Given the description of an element on the screen output the (x, y) to click on. 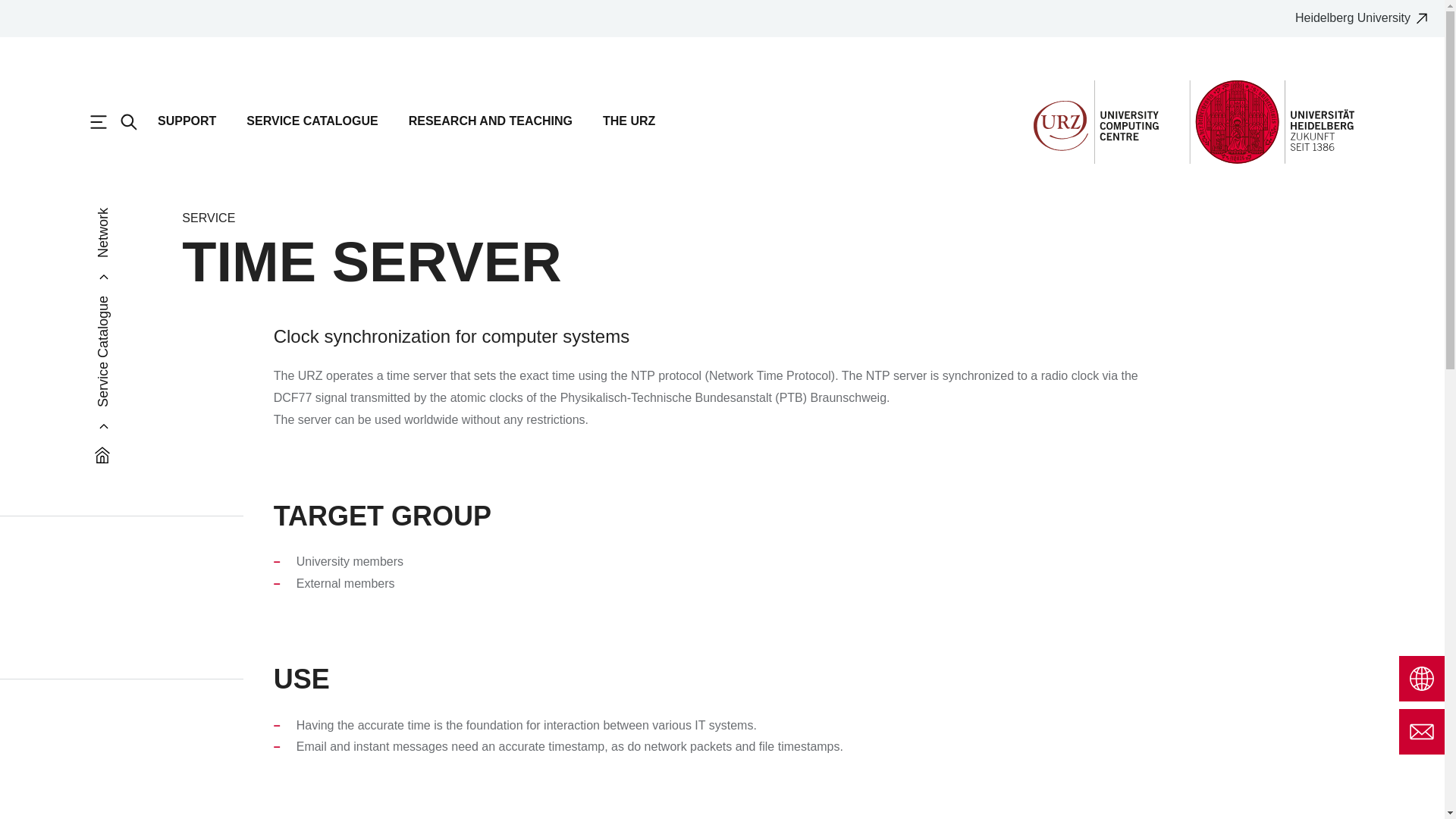
JUMP TO MAIN CONTENT (17, 16)
RESEARCH AND TEACHING (490, 128)
Service Catalogue (151, 303)
THE URZ (628, 128)
Network (120, 215)
SERVICE CATALOGUE (311, 128)
SUPPORT (186, 128)
Heidelberg University (1366, 18)
